Given the description of an element on the screen output the (x, y) to click on. 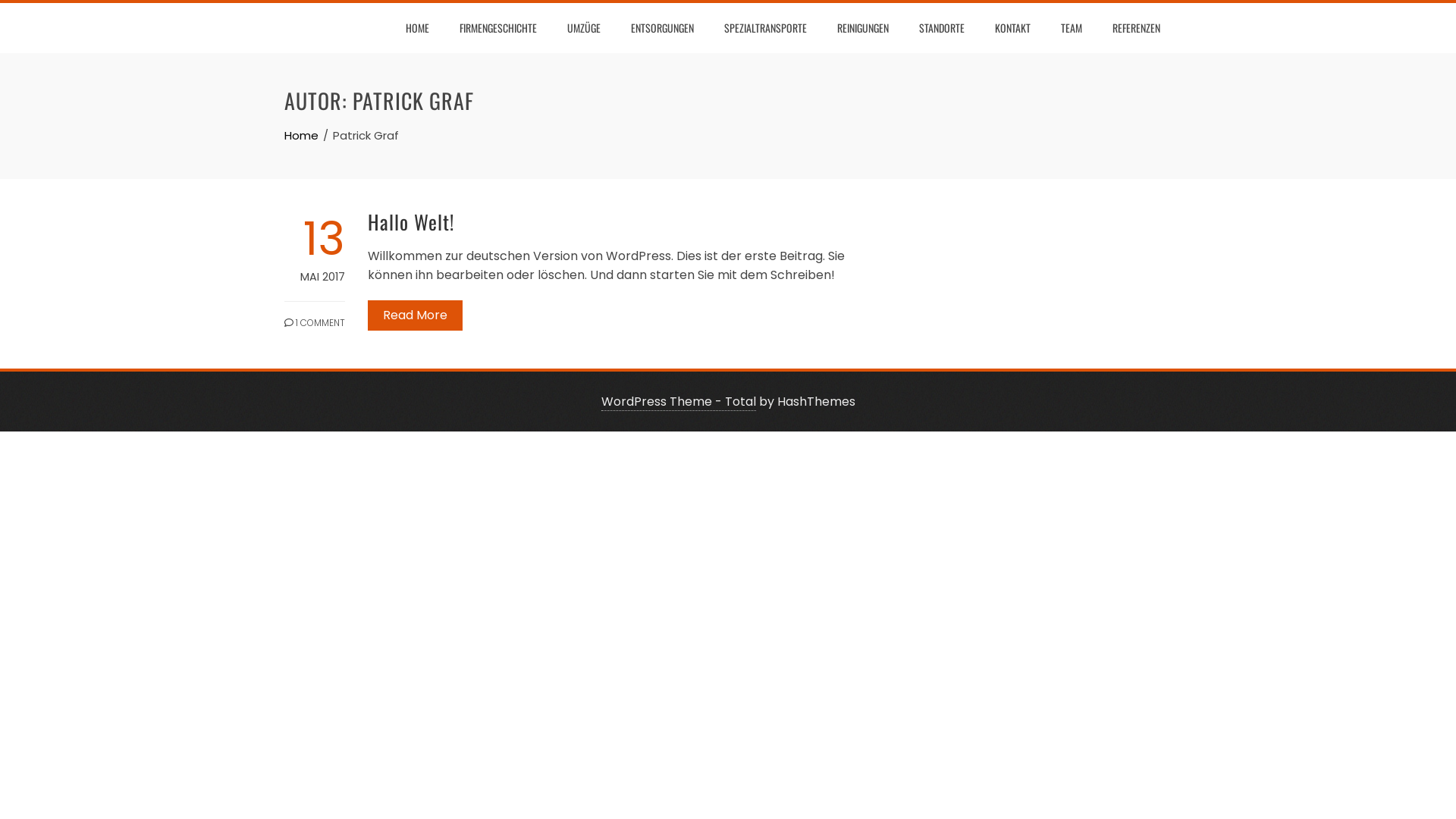
KONTAKT Element type: text (1012, 27)
STANDORTE Element type: text (941, 27)
SPEZIALTRANSPORTE Element type: text (765, 27)
TEAM Element type: text (1071, 27)
Read More Element type: text (414, 315)
REINIGUNGEN Element type: text (862, 27)
WordPress Theme - Total Element type: text (677, 401)
Home Element type: text (301, 135)
FIRMENGESCHICHTE Element type: text (498, 27)
REFERENZEN Element type: text (1136, 27)
1 COMMENT Element type: text (314, 315)
ENTSORGUNGEN Element type: text (662, 27)
Hallo Welt! Element type: text (410, 221)
HOME Element type: text (417, 27)
